Given the description of an element on the screen output the (x, y) to click on. 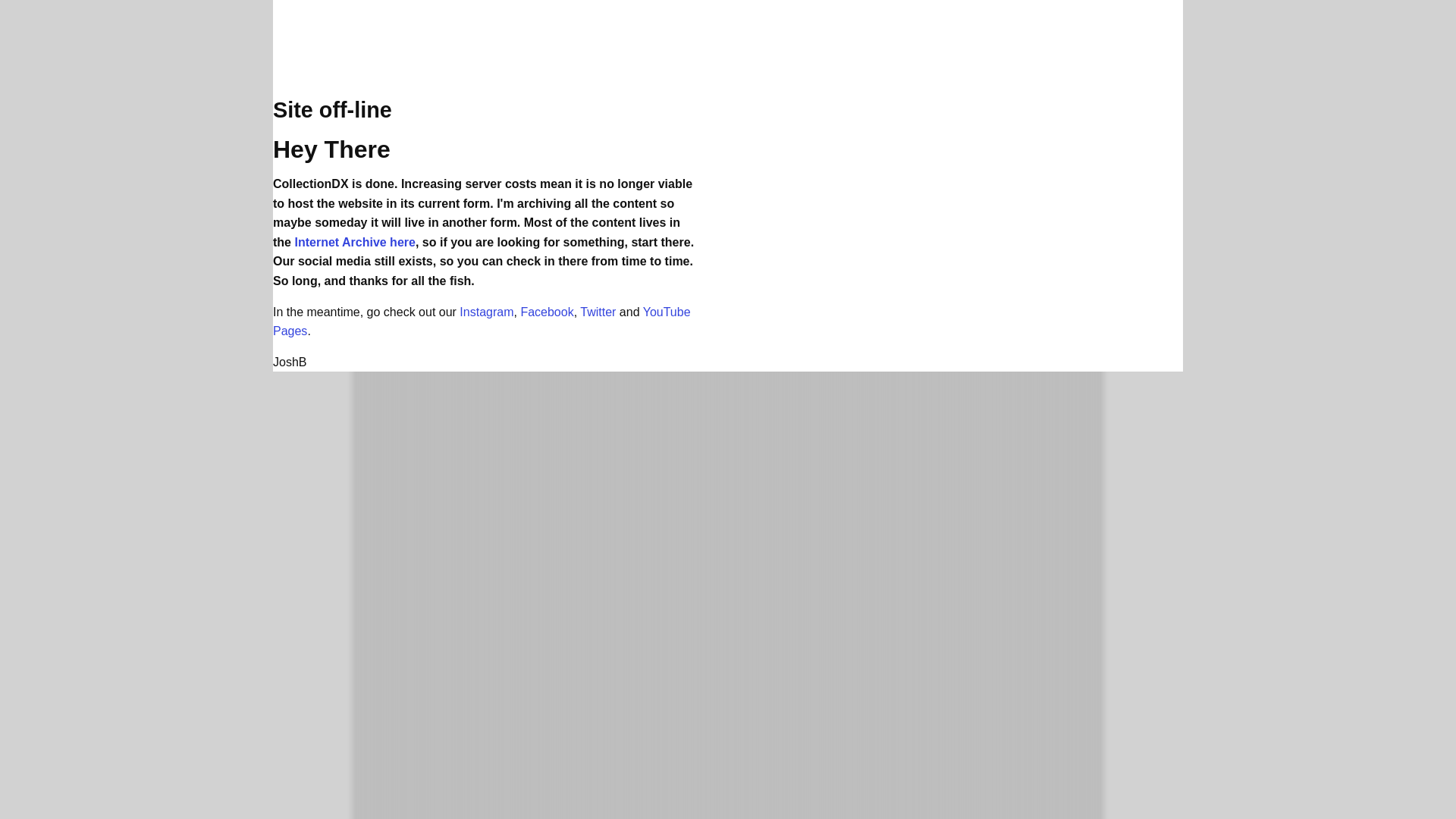
YouTube Pages (481, 321)
Twitter (597, 311)
Facebook (546, 311)
Instagram (486, 311)
Internet Archive here (354, 241)
